Given the description of an element on the screen output the (x, y) to click on. 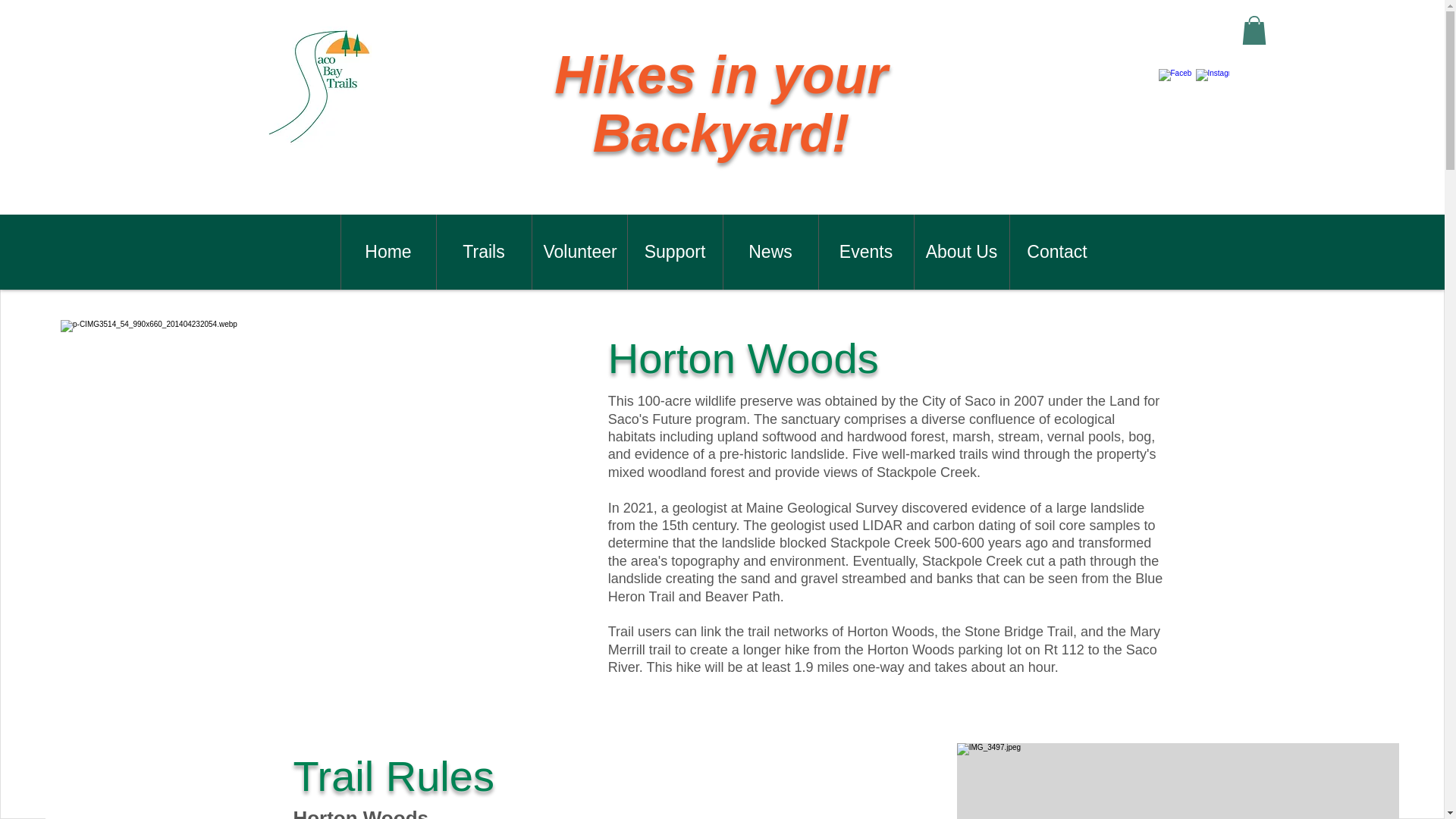
Trails (483, 251)
Volunteer (578, 251)
Contact (1056, 251)
Hikes in your Backyard! (721, 103)
News (769, 251)
Support (674, 251)
Events (864, 251)
Home (387, 251)
About Us (960, 251)
